Given the description of an element on the screen output the (x, y) to click on. 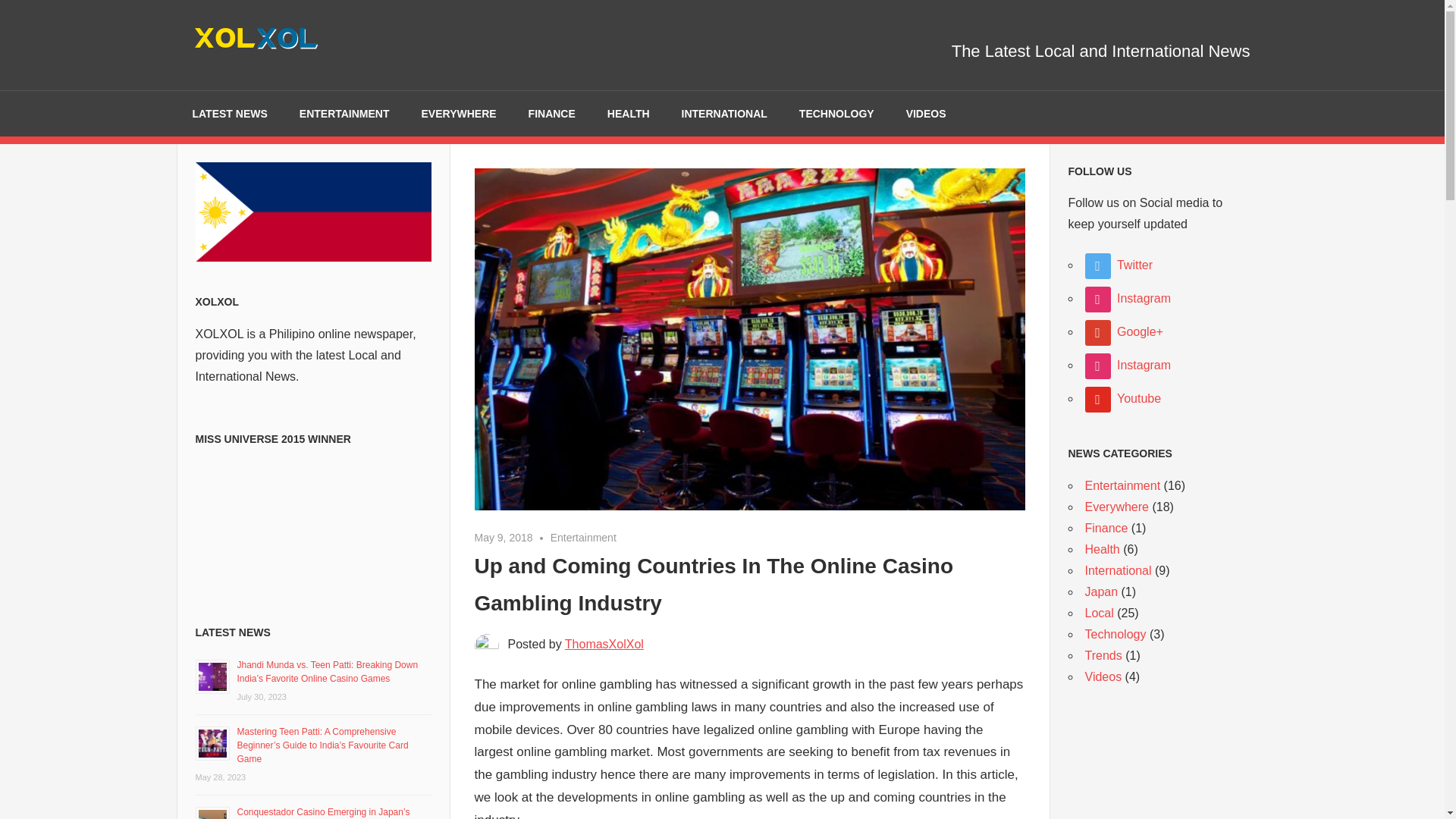
View all posts by ThomasXolXol (603, 644)
Everywhere (1116, 506)
Youtube (1122, 398)
FINANCE (551, 113)
Health (1101, 549)
EVERYWHERE (459, 113)
Entertainment (582, 537)
VIDEOS (925, 113)
Japan (1101, 591)
HEALTH (628, 113)
Finance (1105, 527)
ENTERTAINMENT (344, 113)
Twitter (1118, 264)
Instagram (1127, 297)
Youtube (1122, 398)
